Given the description of an element on the screen output the (x, y) to click on. 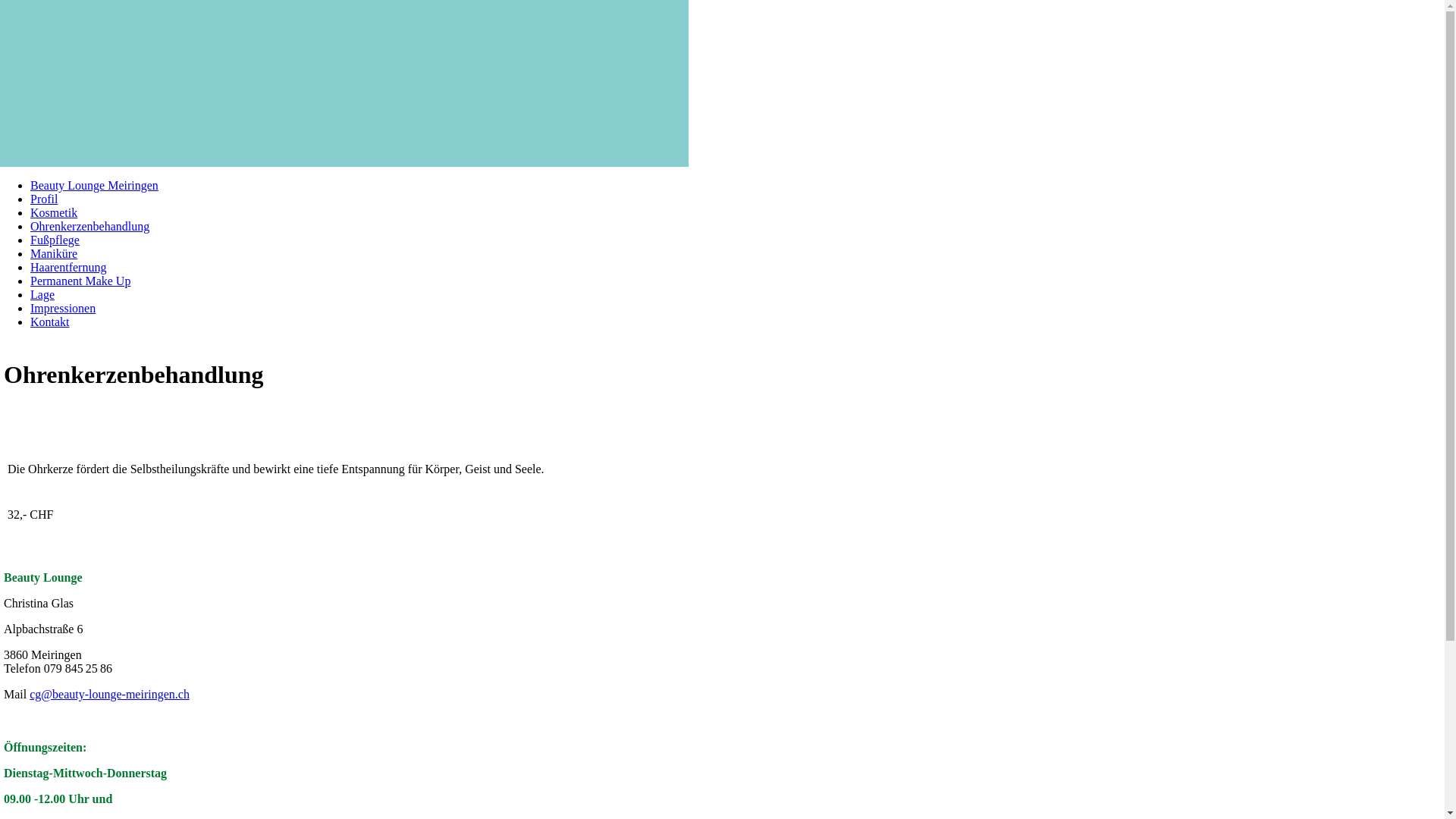
Kosmetik Element type: text (53, 212)
Lage Element type: text (42, 294)
Permanent Make Up Element type: text (80, 280)
Haarentfernung Element type: text (68, 266)
Profil Element type: text (43, 198)
cg@beauty-lounge-meiringen.ch Element type: text (109, 693)
Kontakt Element type: text (49, 321)
Ohrenkerzenbehandlung Element type: text (89, 225)
Impressionen Element type: text (62, 307)
Beauty Lounge Meiringen Element type: text (94, 184)
